Given the description of an element on the screen output the (x, y) to click on. 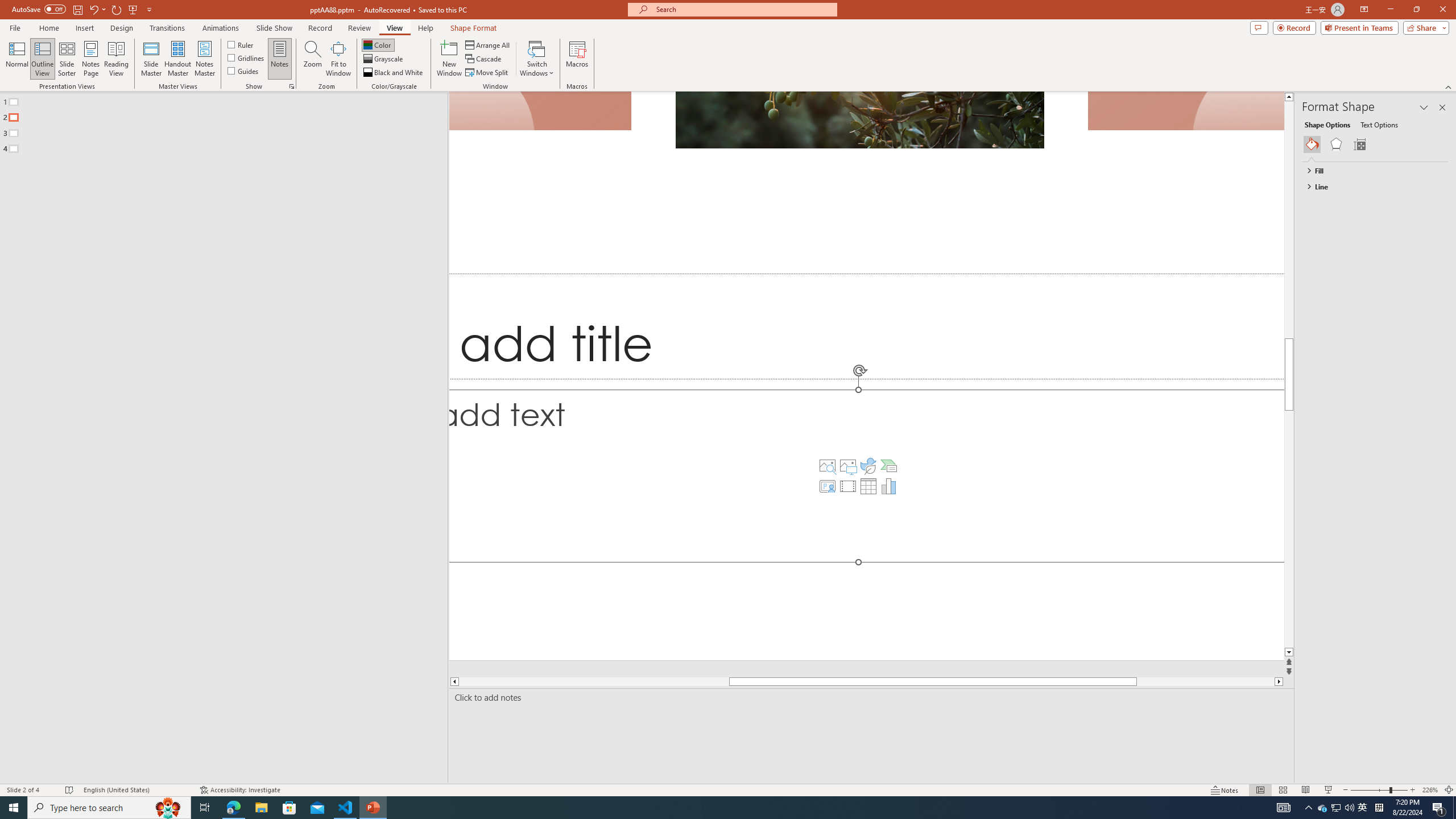
Effects (1335, 144)
Cascade (484, 58)
Decorative Locked (866, 375)
Color (377, 44)
Fit to Window (338, 58)
Arrange All (488, 44)
Switch Windows (537, 58)
Insert Chart (888, 486)
